Given the description of an element on the screen output the (x, y) to click on. 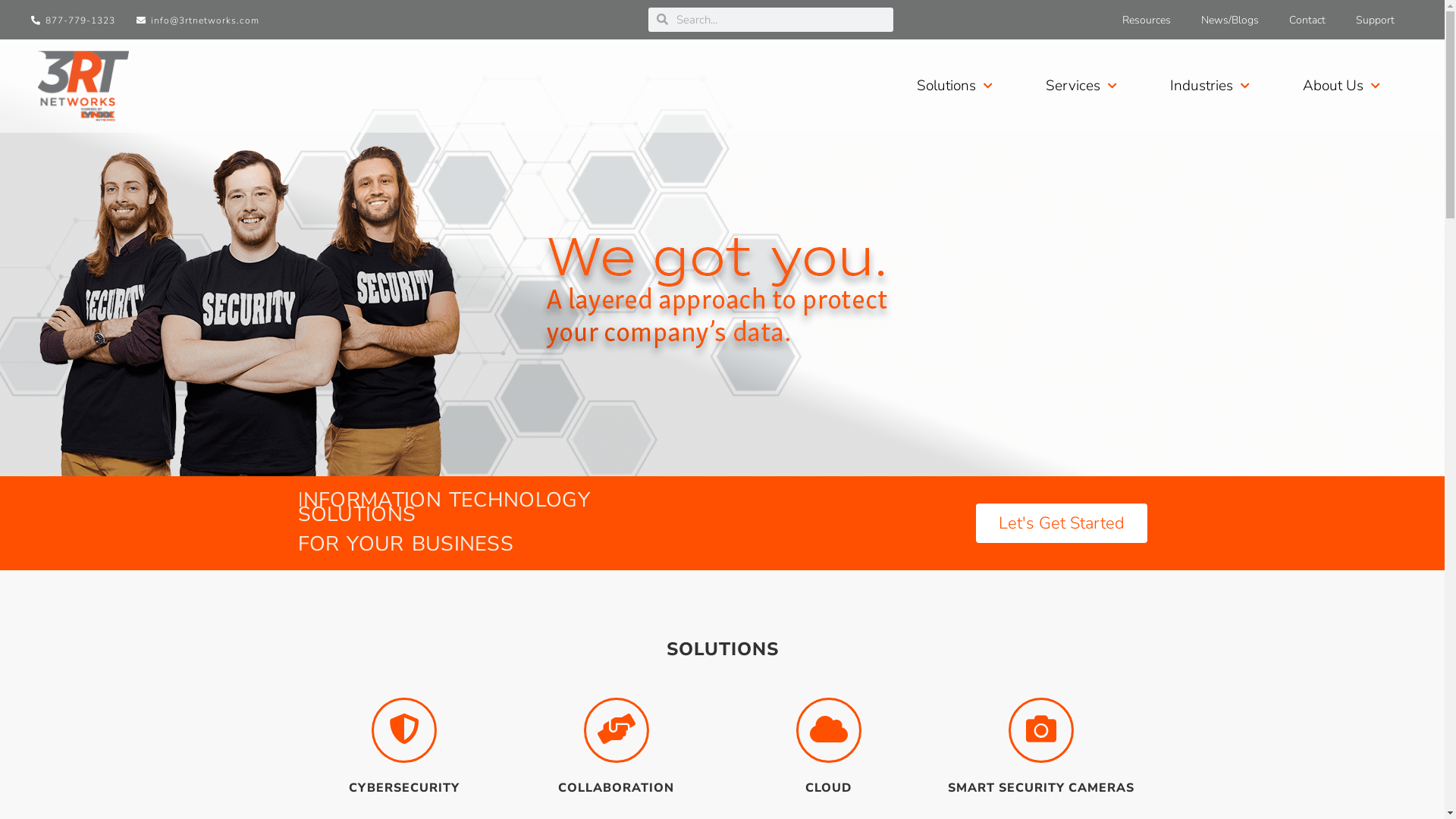
Services Element type: text (1081, 86)
Let's Get Started Element type: text (1060, 522)
CLOUD Element type: text (828, 787)
info@3rtnetworks.com Element type: text (197, 20)
Contact Element type: text (1307, 20)
SMART SECURITY CAMERAS Element type: text (1040, 787)
877-779-1323 Element type: text (72, 20)
Resources Element type: text (1146, 20)
Solutions Element type: text (954, 86)
News/Blogs Element type: text (1230, 20)
COLLABORATION Element type: text (616, 787)
CYBERSECURITY Element type: text (403, 787)
Support Element type: text (1374, 20)
Industries Element type: text (1209, 86)
About Us Element type: text (1341, 86)
